Given the description of an element on the screen output the (x, y) to click on. 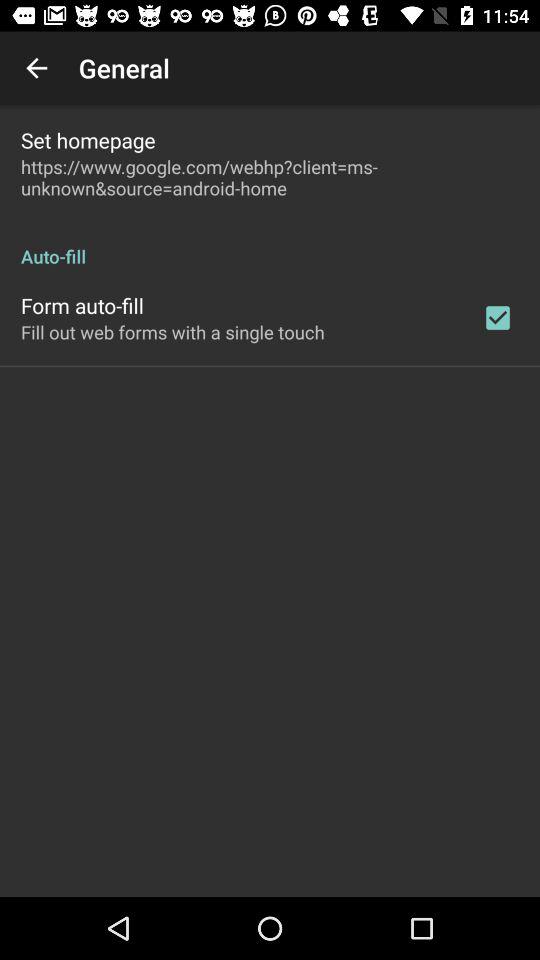
jump until https www google icon (270, 177)
